Given the description of an element on the screen output the (x, y) to click on. 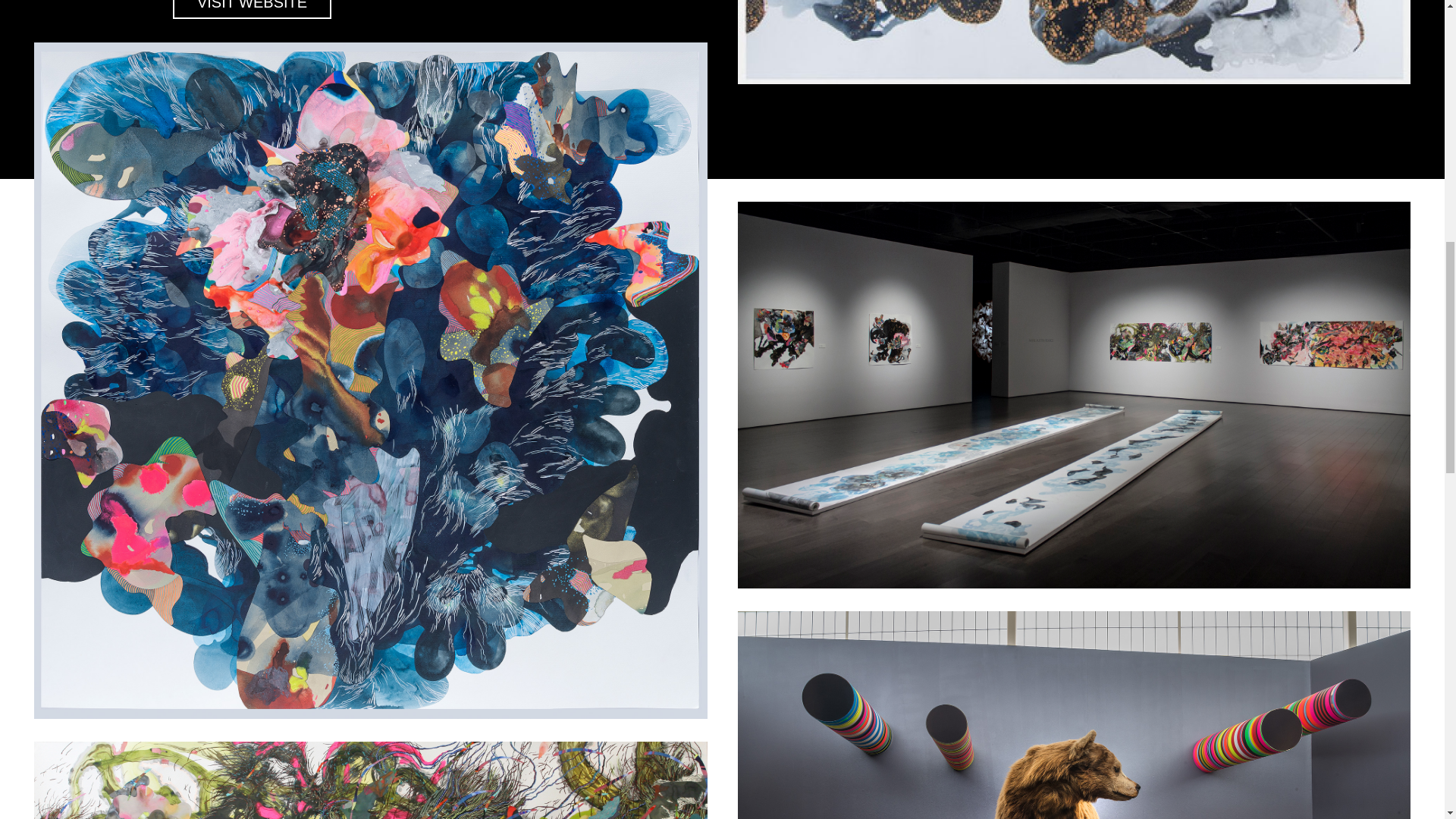
View Website for Anne Austin Pearce (252, 9)
